Given the description of an element on the screen output the (x, y) to click on. 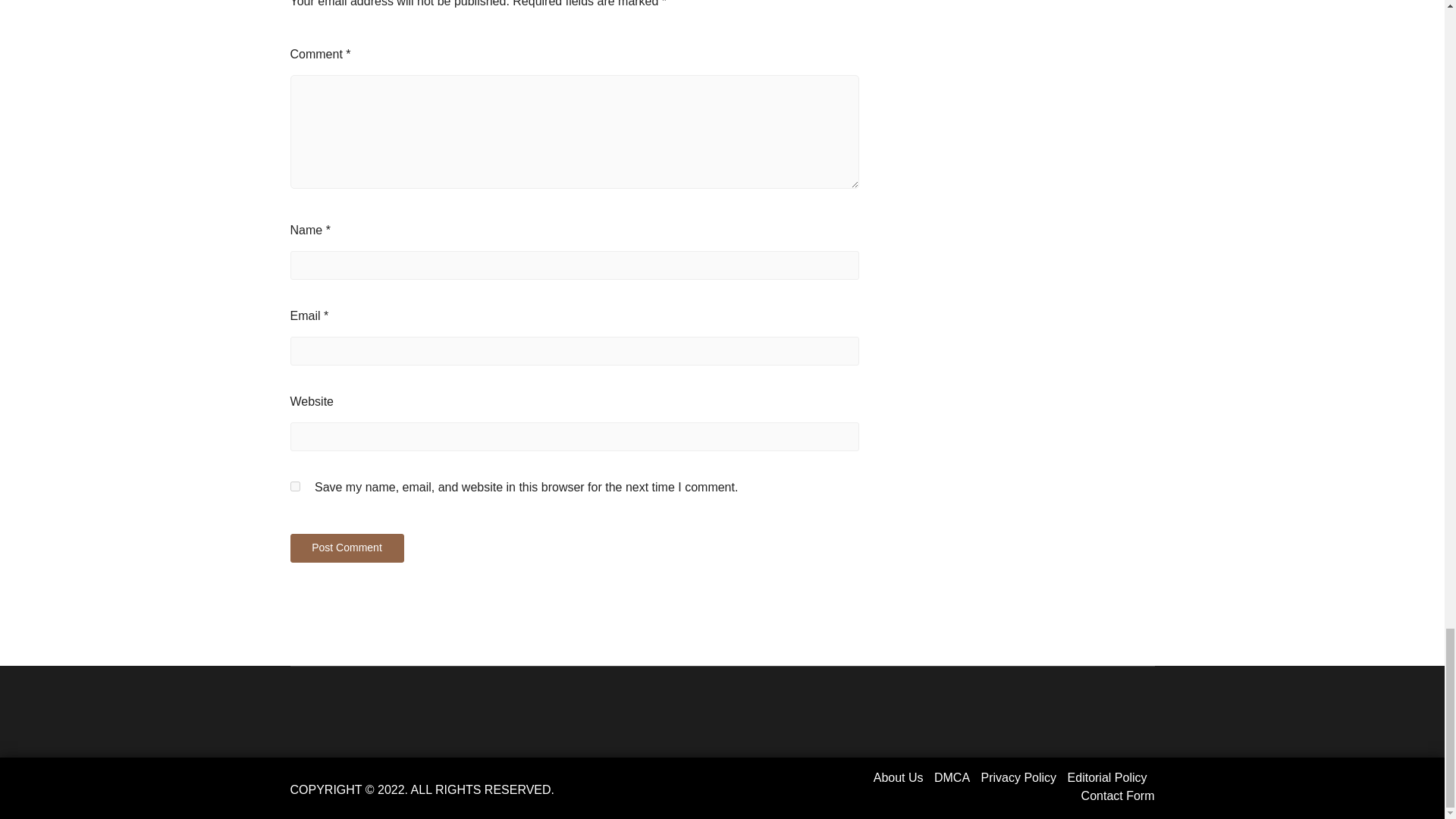
yes (294, 486)
Post Comment (346, 547)
Post Comment (346, 547)
